Given the description of an element on the screen output the (x, y) to click on. 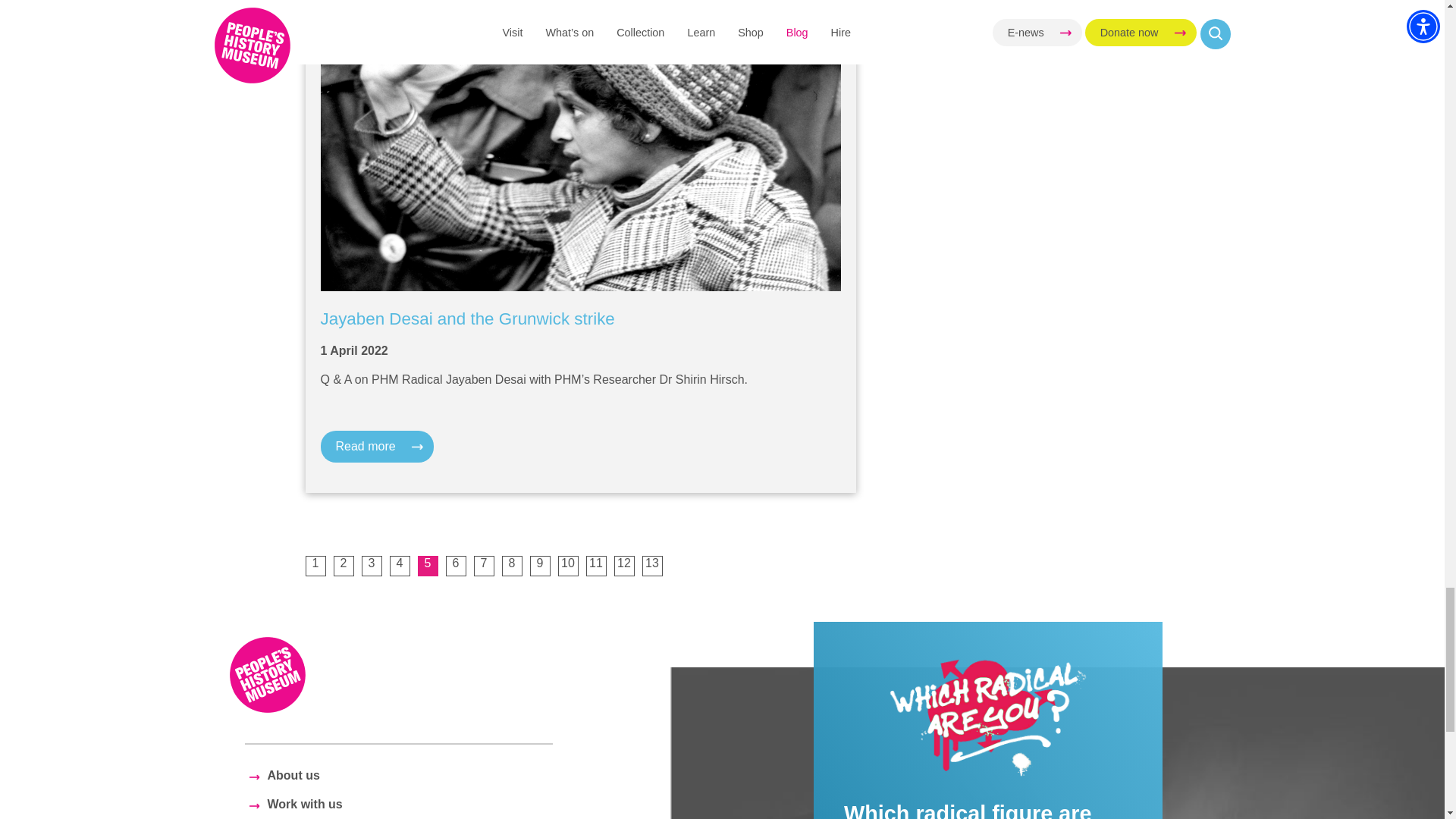
4 (400, 566)
8 (512, 566)
Read more (376, 446)
9 (539, 566)
7 (483, 566)
1 (314, 566)
3 (371, 566)
5 (427, 566)
2 (343, 566)
6 (455, 566)
